Given the description of an element on the screen output the (x, y) to click on. 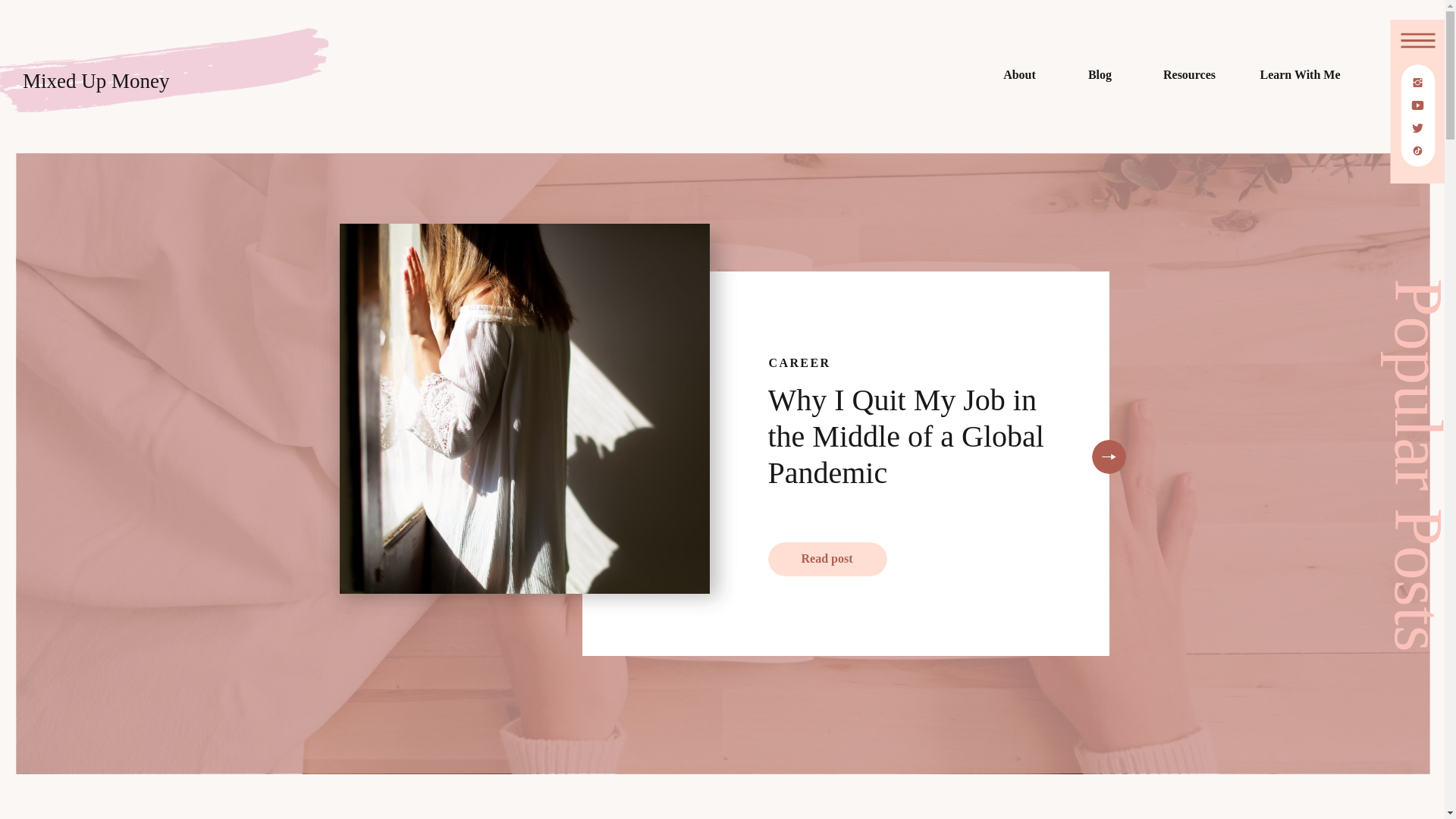
CAREER (799, 362)
About (1019, 76)
Read post (825, 559)
Mixed Up Money (137, 87)
Blog (1099, 76)
Resources (1189, 76)
Why I Quit My Job in the Middle of a Global Pandemic (1107, 456)
Why I Quit My Job in the Middle of a Global Pandemic (905, 436)
Why I Quit My Job in the Middle of a Global Pandemic (825, 559)
Learn With Me (1299, 76)
